Given the description of an element on the screen output the (x, y) to click on. 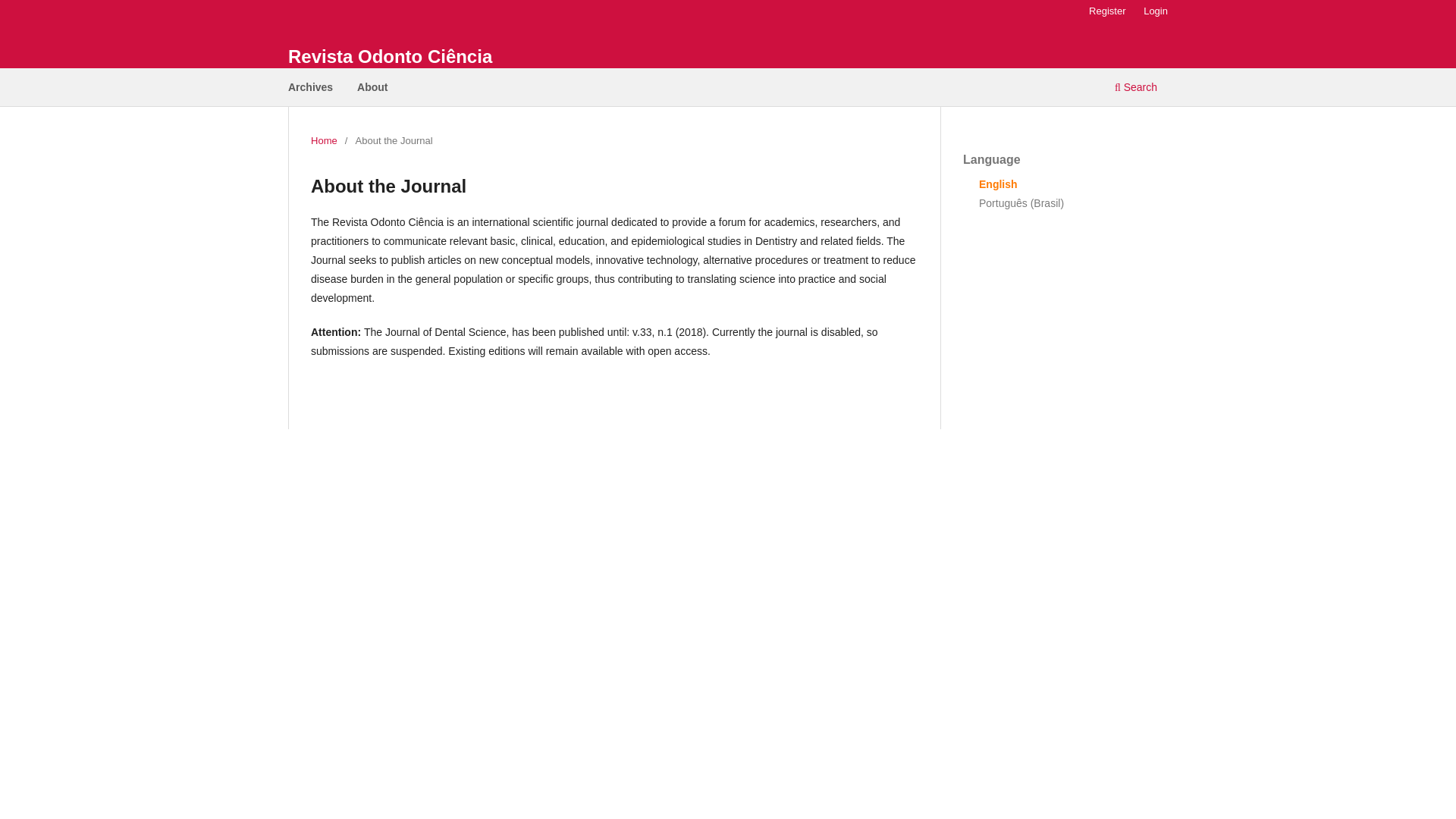
About (372, 89)
Archives (309, 89)
Search (1135, 89)
Home (324, 140)
Login (1154, 11)
Register (1106, 11)
  English (997, 184)
